Given the description of an element on the screen output the (x, y) to click on. 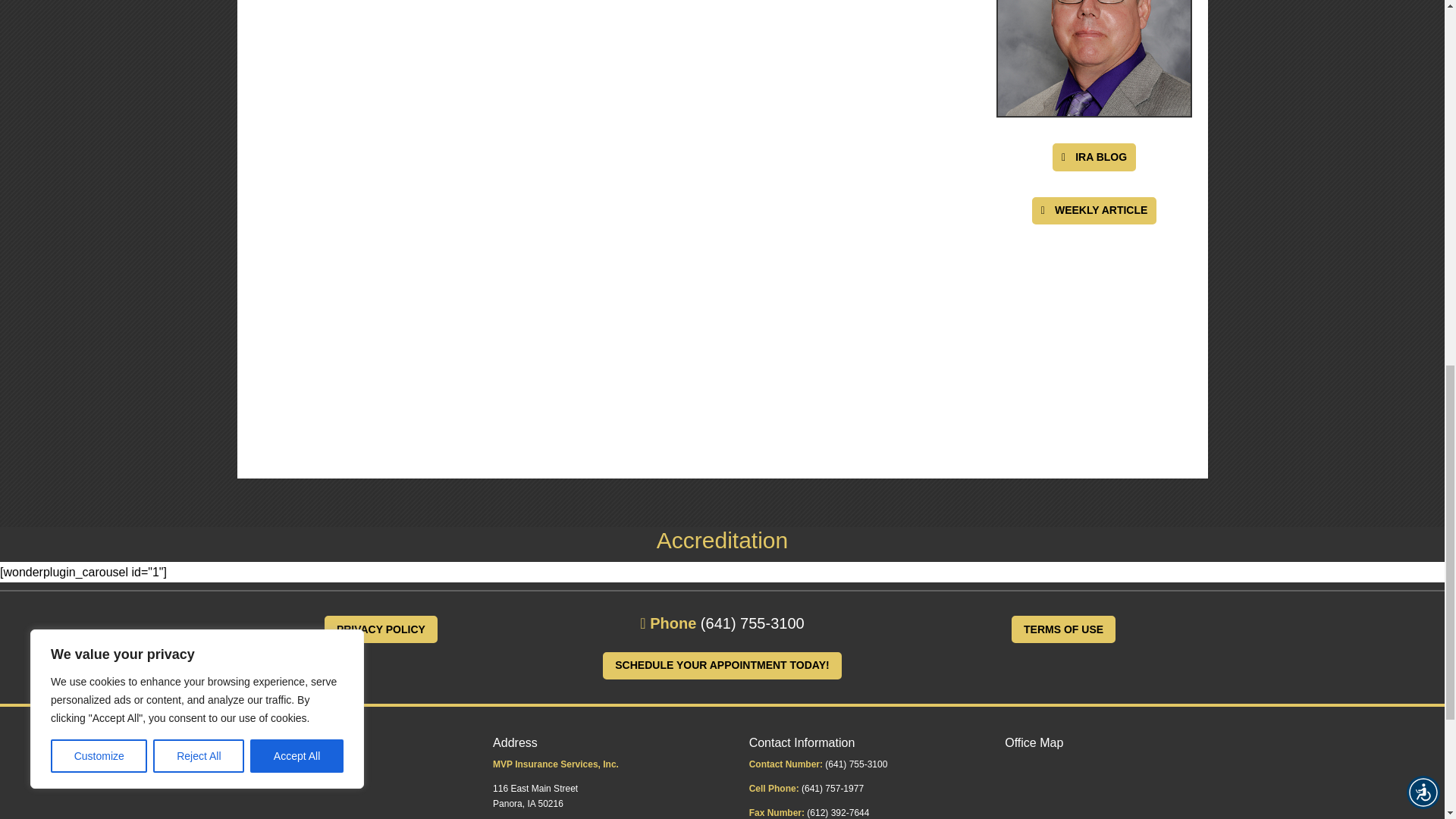
john (1094, 58)
